Given the description of an element on the screen output the (x, y) to click on. 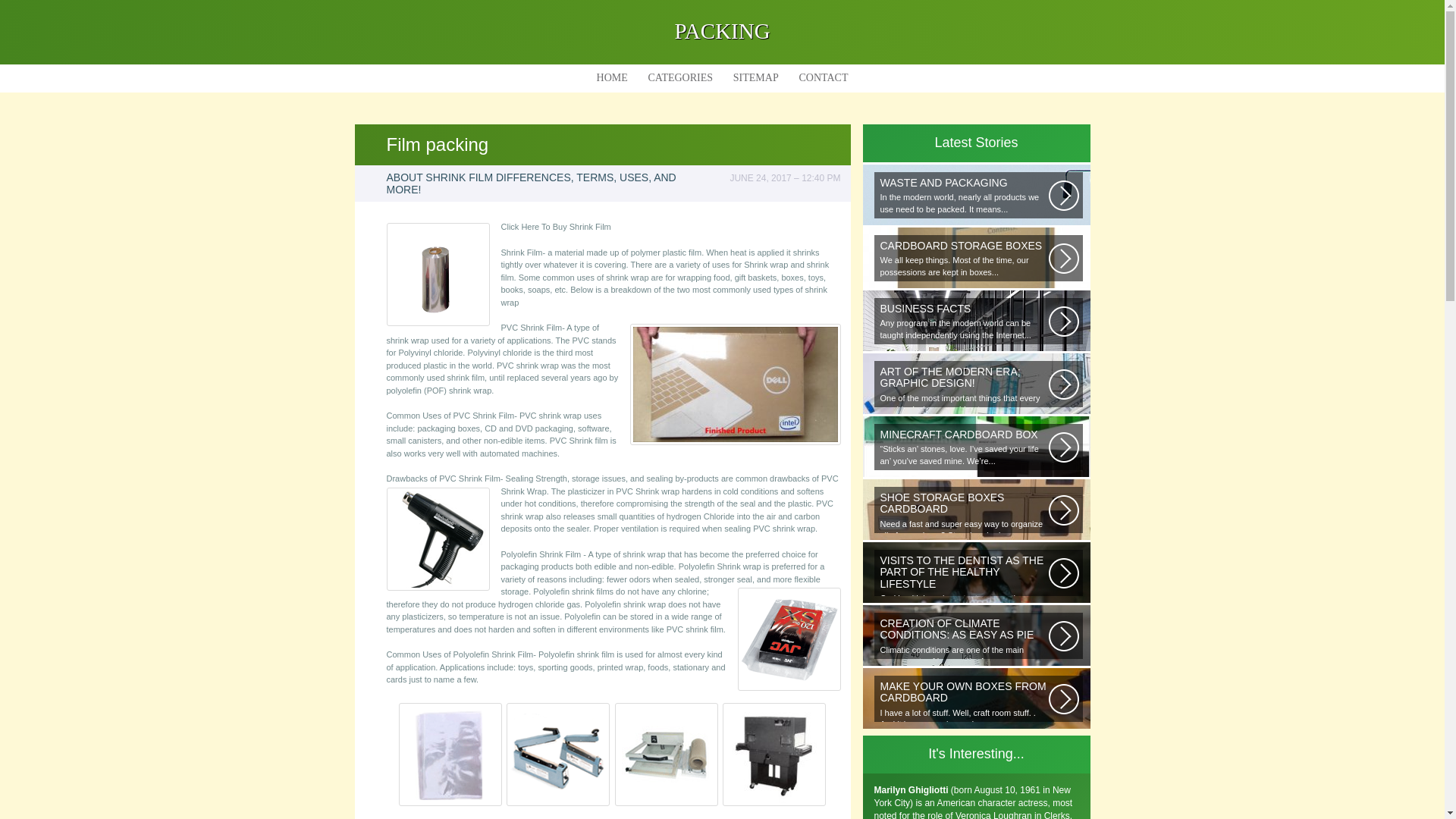
PACKING (722, 30)
SITEMAP (755, 77)
HOME (612, 77)
CATEGORIES (680, 77)
CONTACT (823, 77)
